Given the description of an element on the screen output the (x, y) to click on. 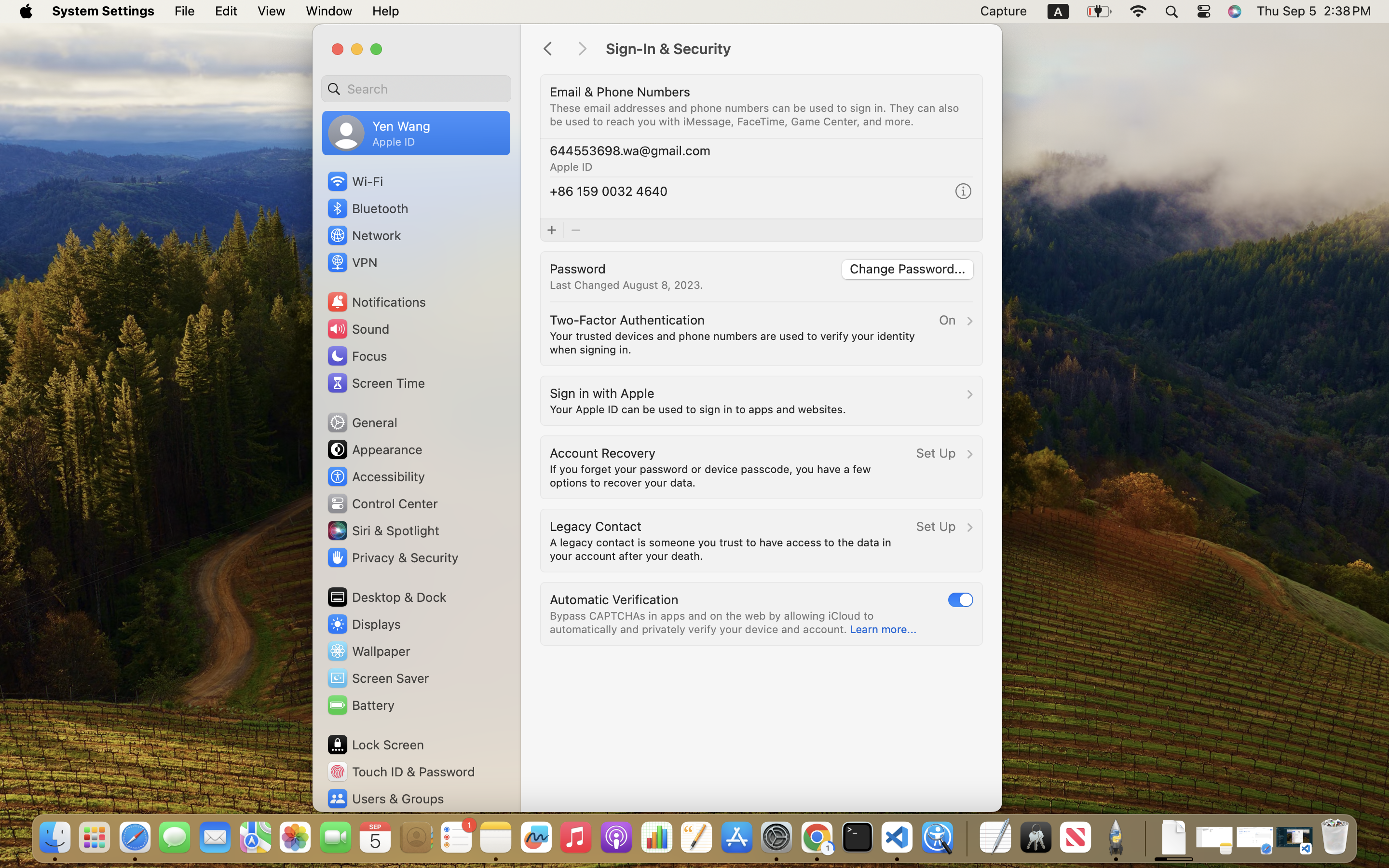
Desktop & Dock Element type: AXStaticText (386, 596)
Touch ID & Password Element type: AXStaticText (400, 771)
Displays Element type: AXStaticText (363, 623)
General Element type: AXStaticText (361, 422)
Last Changed August 8, 2023. Element type: AXStaticText (626, 284)
